Given the description of an element on the screen output the (x, y) to click on. 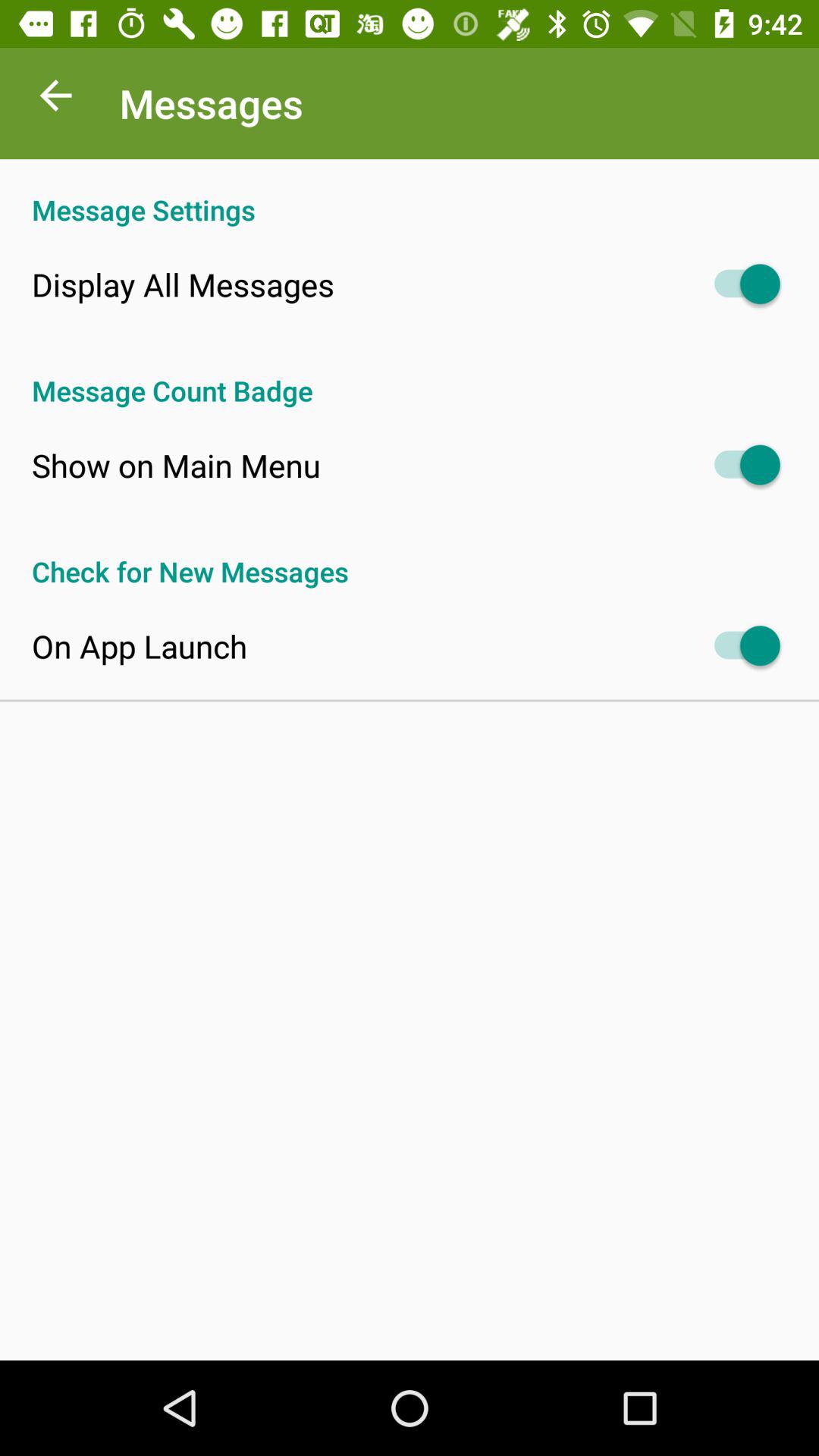
tap the app below message count badge icon (175, 464)
